Given the description of an element on the screen output the (x, y) to click on. 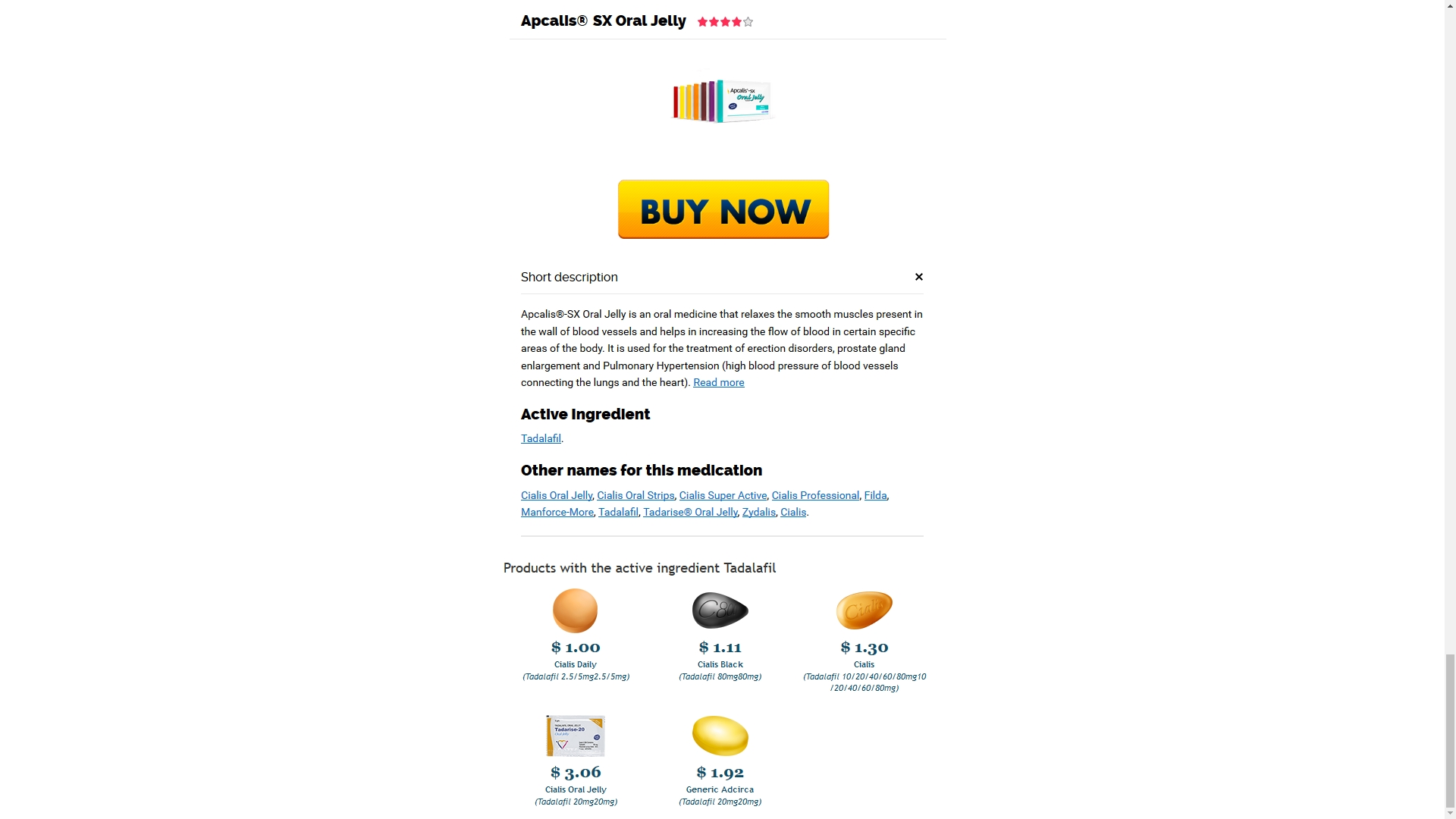
Confrontare i prezzi di Baclofen (407, 192)
Confrontare i prezzi di Baclofen (407, 192)
